Given the description of an element on the screen output the (x, y) to click on. 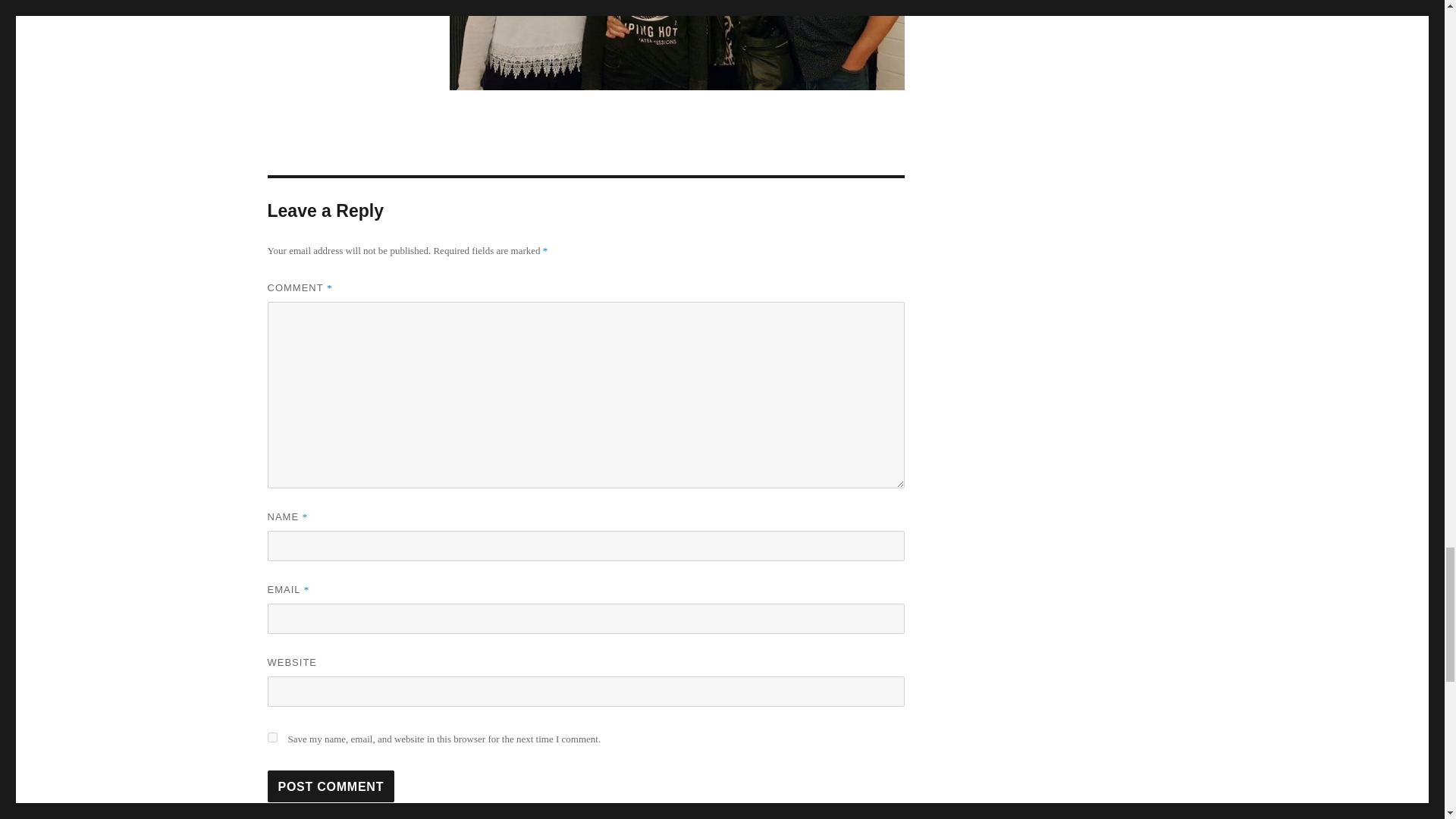
Post Comment (330, 786)
yes (271, 737)
Post Comment (330, 786)
